Given the description of an element on the screen output the (x, y) to click on. 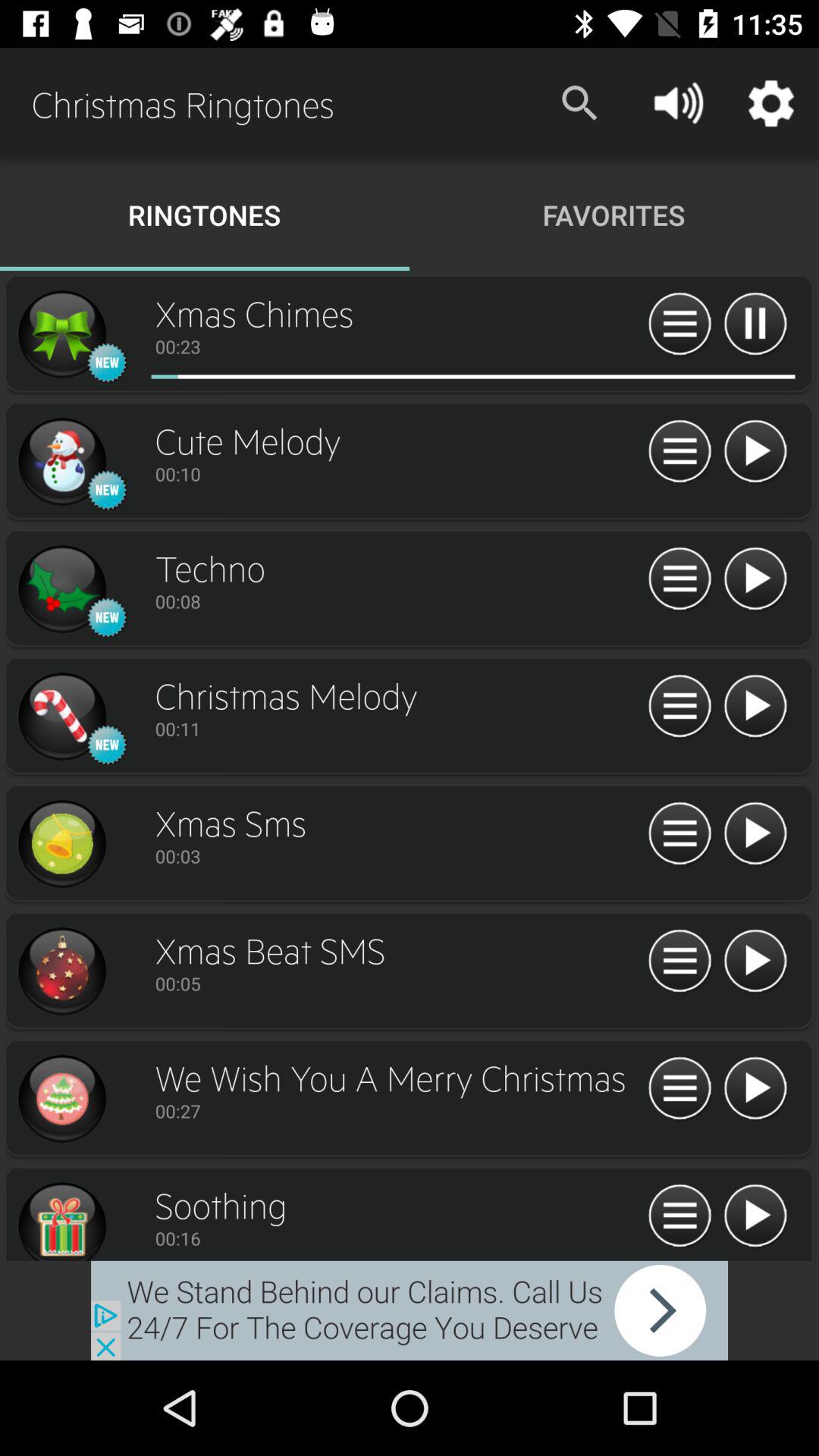
open more information (679, 834)
